Given the description of an element on the screen output the (x, y) to click on. 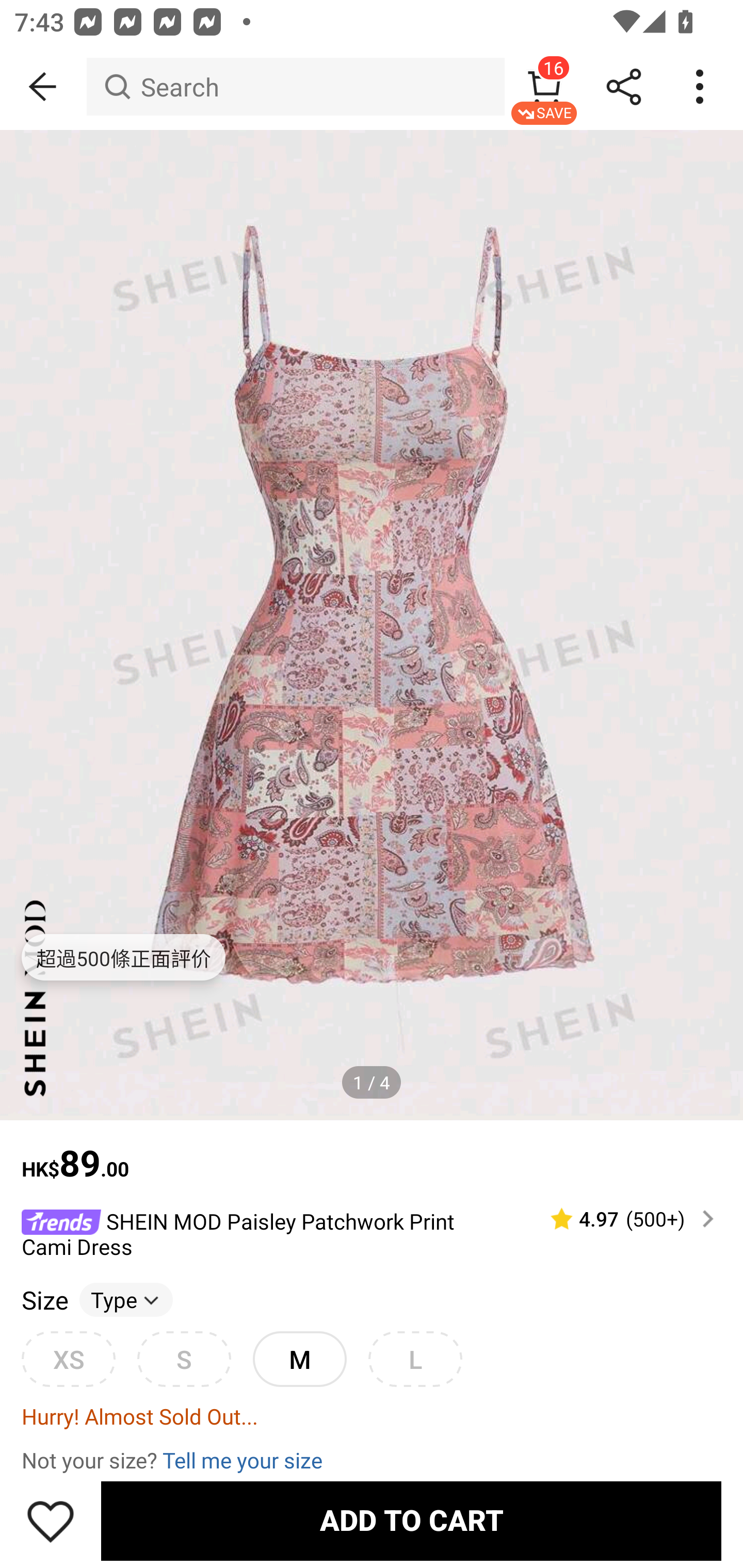
BACK (43, 86)
16 SAVE (543, 87)
Search (295, 87)
1 / 4 (371, 1082)
HK$89.00 (371, 1152)
4.97 (500‎+) (623, 1219)
Size (44, 1299)
Type (126, 1299)
XS (68, 1359)
S (184, 1359)
M Munselected option (299, 1359)
L (415, 1359)
Hurry! Almost Sold Out... (371, 1415)
Not your size? Tell me your size (371, 1459)
ADD TO CART (411, 1520)
Save (50, 1520)
